Given the description of an element on the screen output the (x, y) to click on. 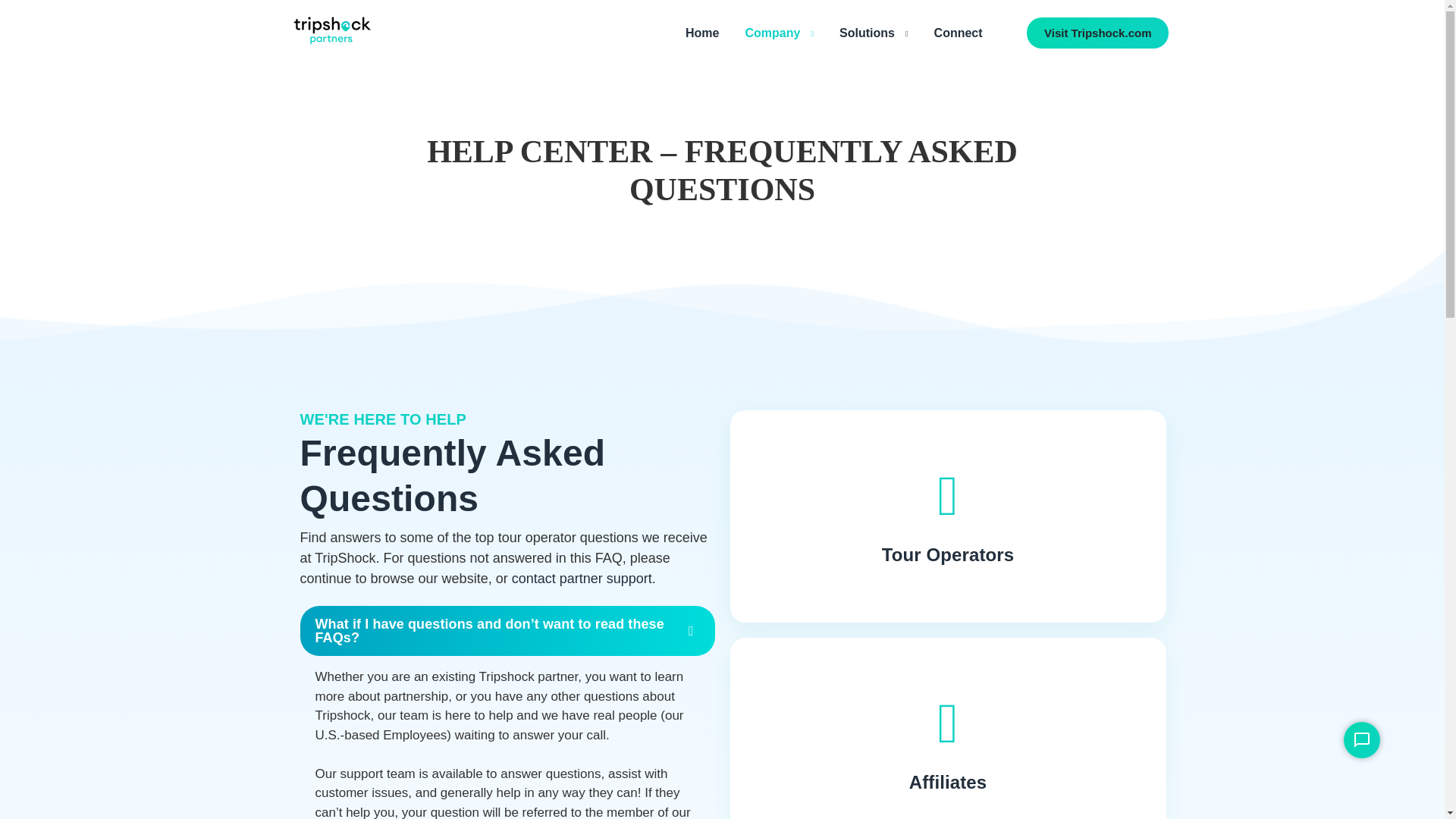
contact partner support (582, 578)
Connect (965, 28)
Solutions (881, 28)
Home (709, 28)
Visit Tripshock.com (1097, 32)
Company (786, 28)
